Given the description of an element on the screen output the (x, y) to click on. 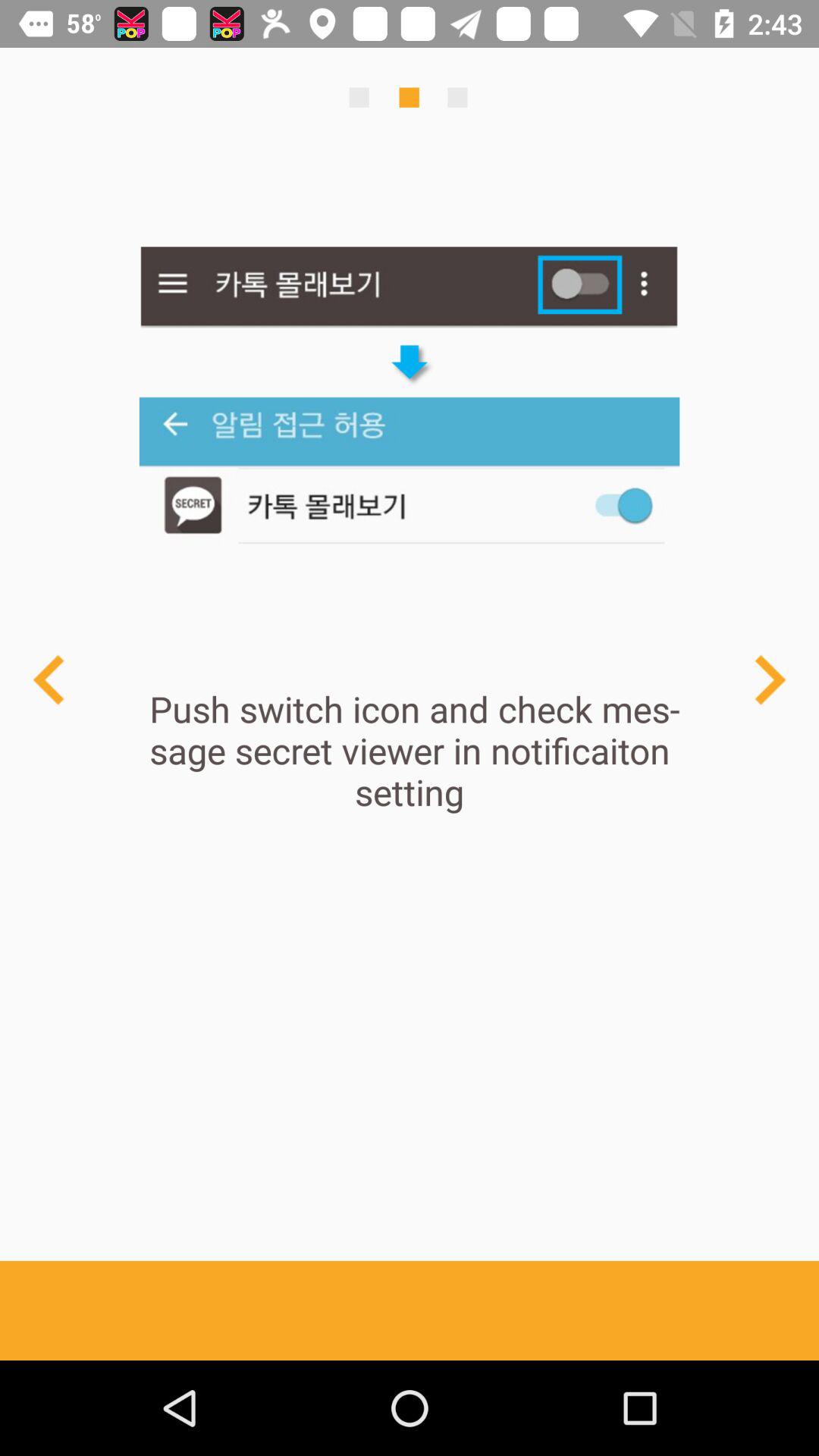
back to previous menu (49, 679)
